Given the description of an element on the screen output the (x, y) to click on. 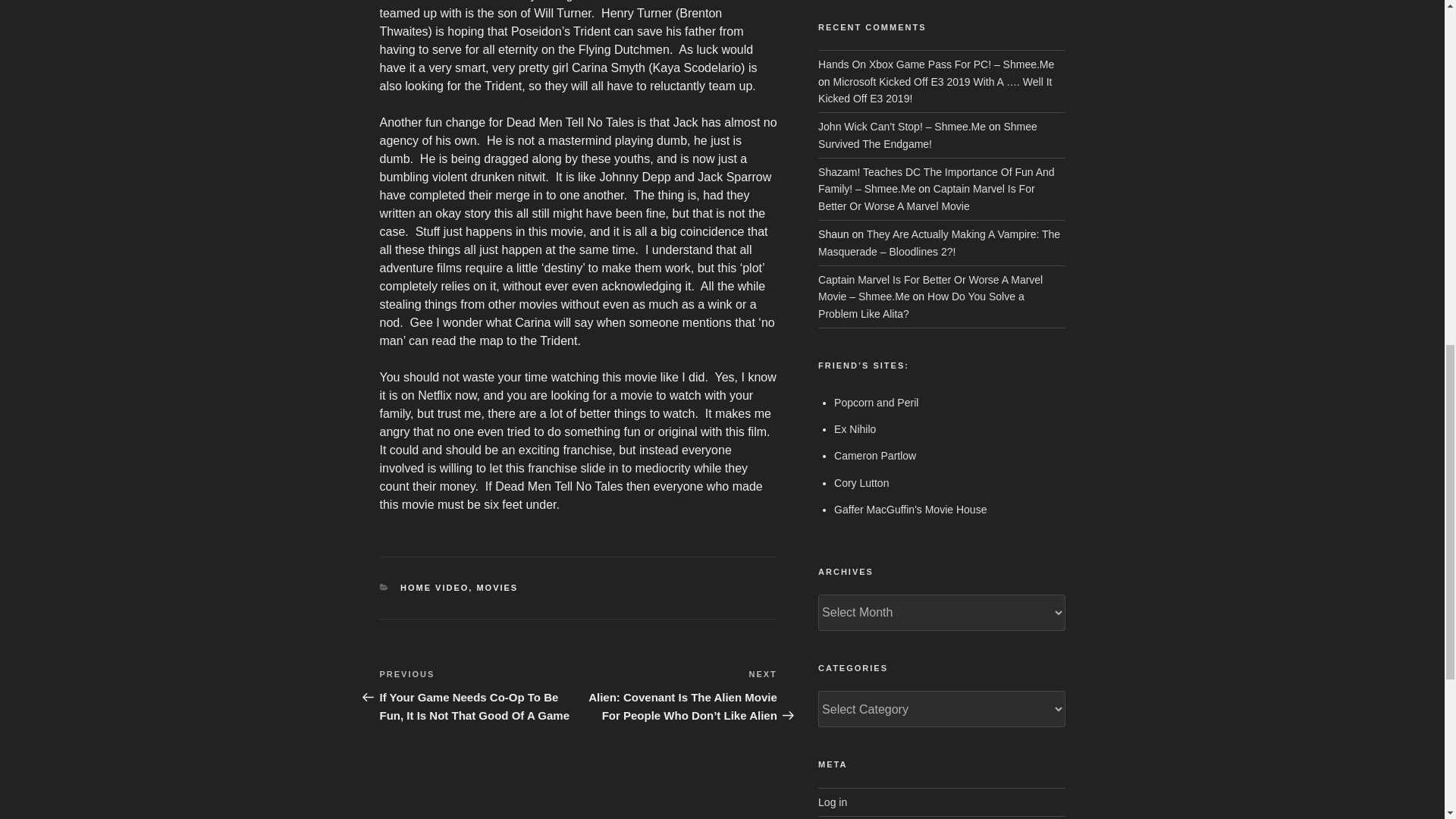
Captain Marvel Is For Better Or Worse A Marvel Movie (926, 196)
HOME VIDEO (434, 587)
Shmee Survived The Endgame! (927, 134)
MOVIES (497, 587)
How Do You Solve a Problem Like Alita? (921, 304)
